Given the description of an element on the screen output the (x, y) to click on. 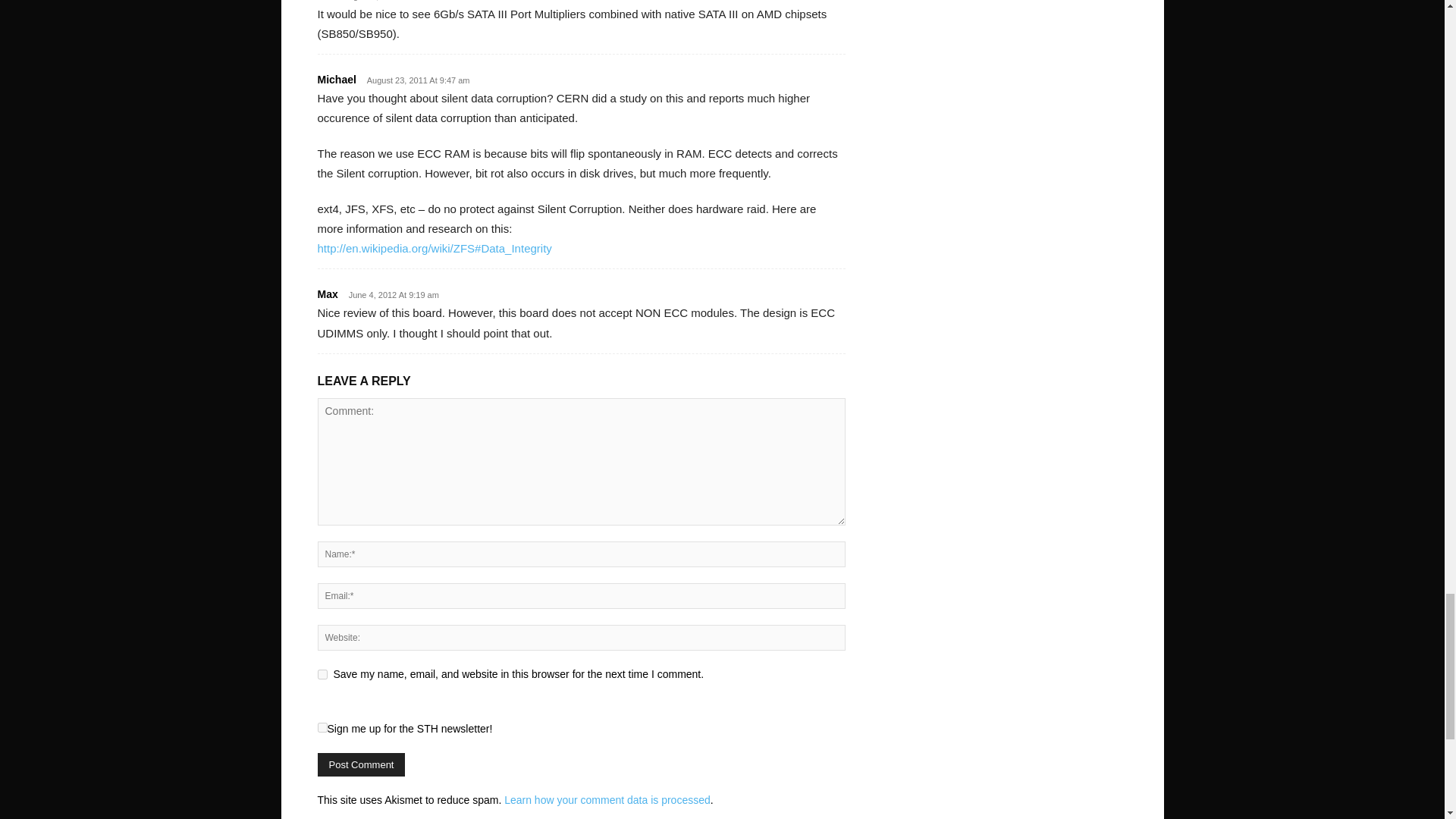
1 (321, 727)
yes (321, 674)
Post Comment (360, 764)
